Given the description of an element on the screen output the (x, y) to click on. 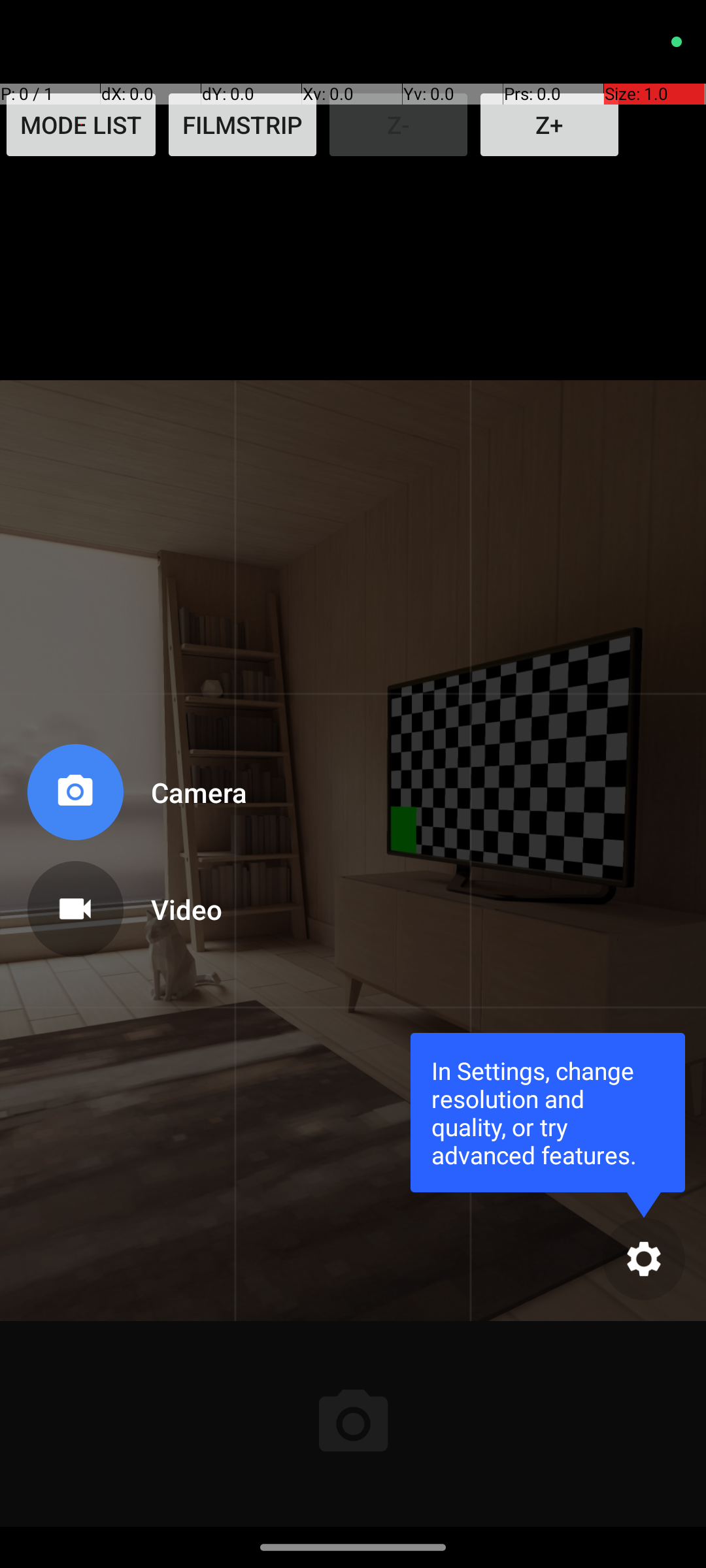
Switch to Camera Mode Element type: android.widget.FrameLayout (134, 797)
Switch to Video Camera Element type: android.widget.FrameLayout (134, 903)
In Settings, change resolution and quality, or try advanced features. Element type: android.widget.TextView (547, 1112)
Camera Element type: android.widget.TextView (185, 792)
